Given the description of an element on the screen output the (x, y) to click on. 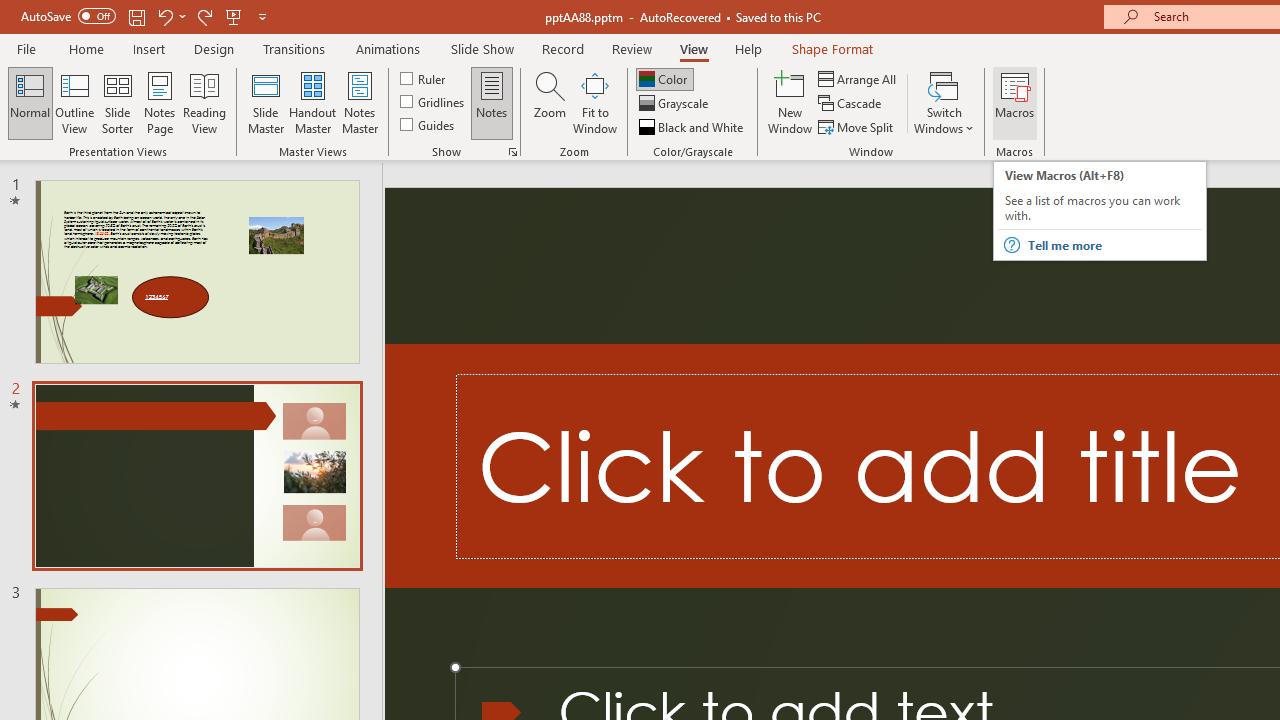
Ruler (423, 78)
Guides (428, 124)
Move Split (857, 126)
Zoom... (549, 102)
